Given the description of an element on the screen output the (x, y) to click on. 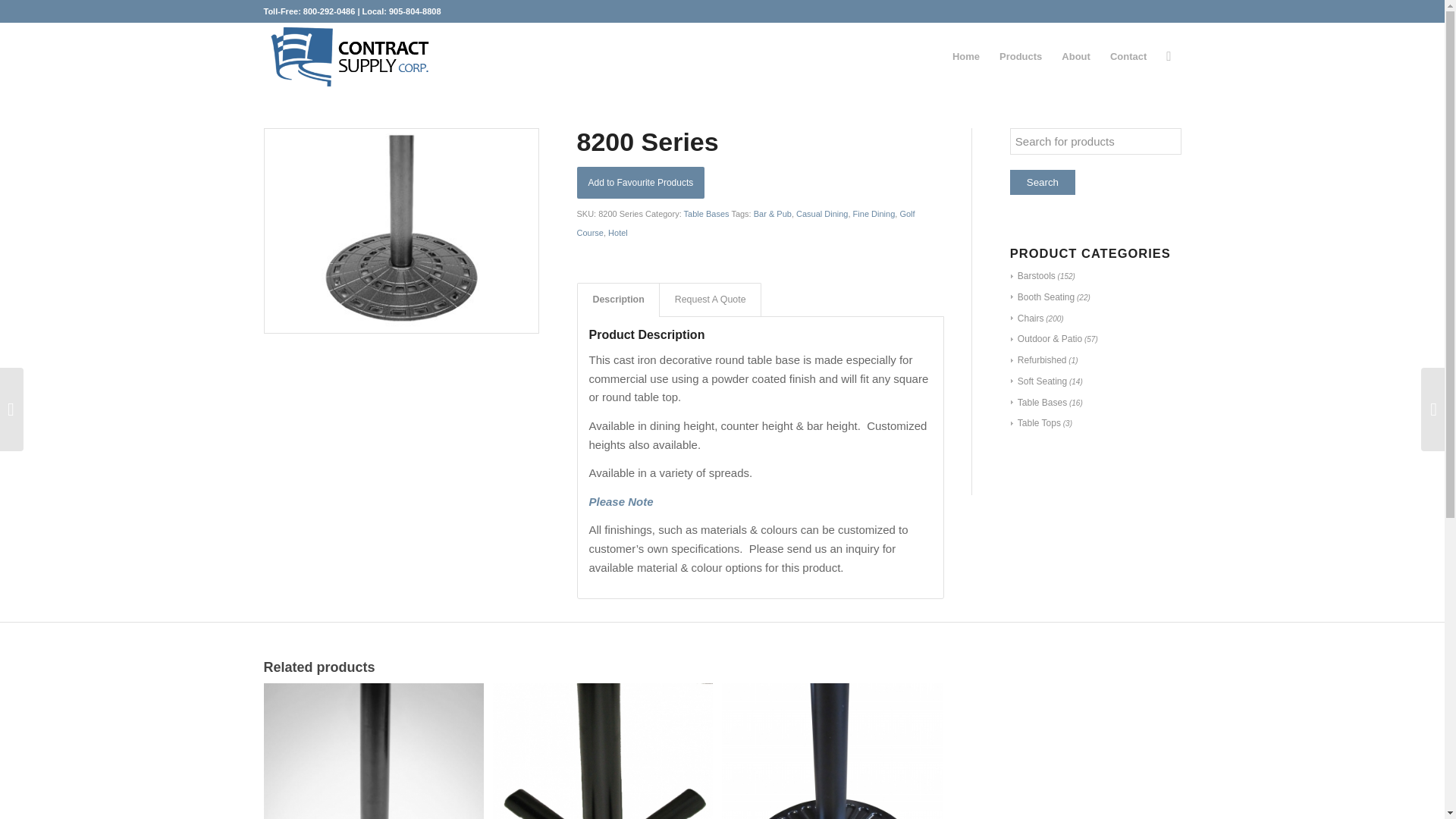
Description (617, 299)
Add to Favourite Products (640, 183)
Booth Seating (1042, 296)
9600 Series (603, 751)
8100 Series (832, 751)
Request A Quote (710, 299)
8000 Series (373, 751)
Table Bases (706, 213)
Search (1042, 181)
Request A Quote (710, 299)
Table Tops (1035, 422)
Description (617, 299)
Casual Dining (821, 213)
Search (1042, 181)
Golf Course (745, 223)
